Given the description of an element on the screen output the (x, y) to click on. 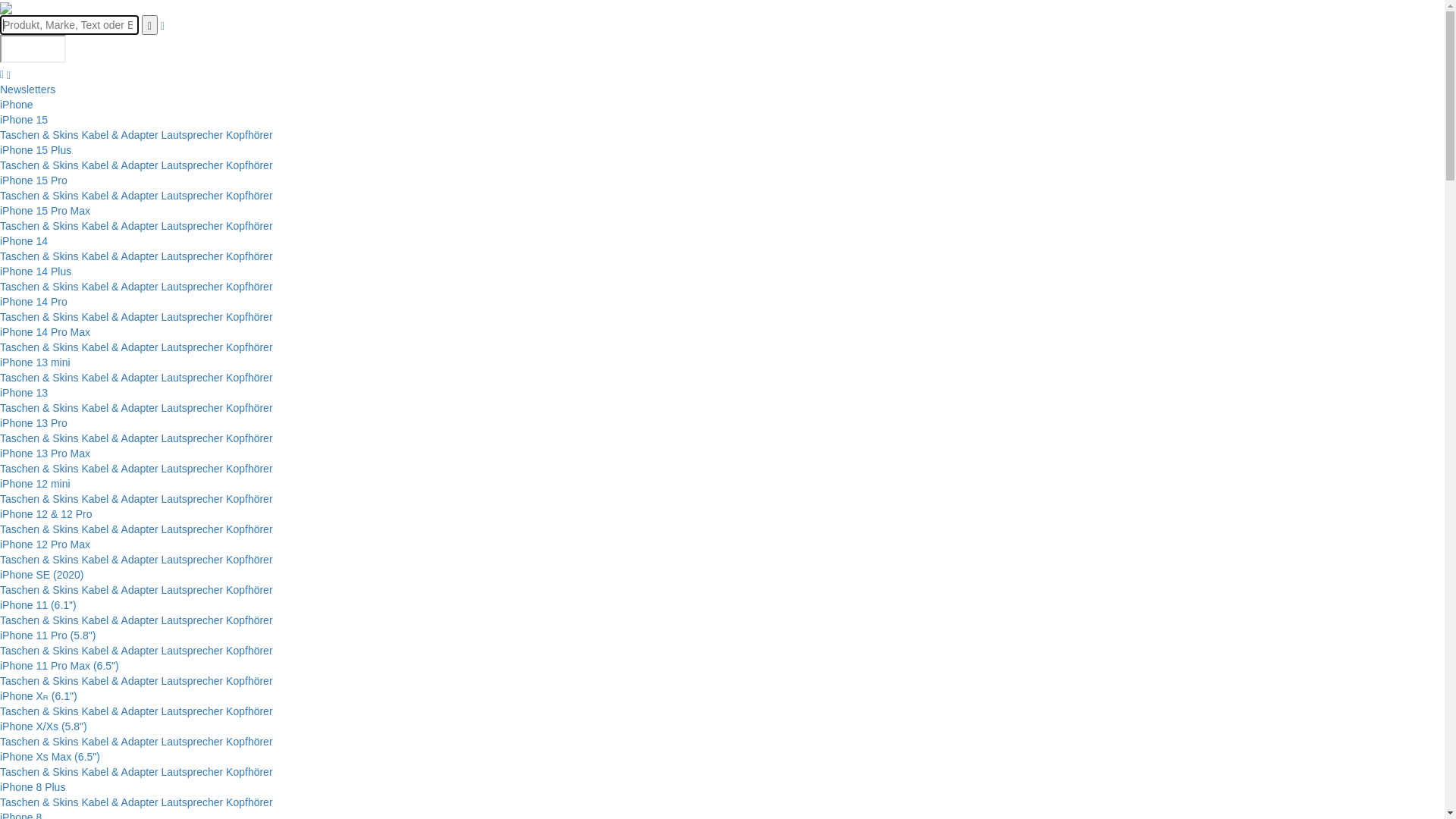
Taschen & Skins Element type: text (39, 650)
Taschen & Skins Element type: text (39, 438)
Kabel & Adapter Element type: text (119, 256)
iPhone 14 Element type: text (23, 241)
iPhone 15 Plus Element type: text (35, 150)
Kabel & Adapter Element type: text (119, 498)
Taschen & Skins Element type: text (39, 316)
iPhone Xs Max (6.5") Element type: text (50, 756)
Lautsprecher Element type: text (191, 802)
Lautsprecher Element type: text (191, 468)
Taschen & Skins Element type: text (39, 165)
Kabel & Adapter Element type: text (119, 680)
Kabel & Adapter Element type: text (119, 377)
Taschen & Skins Element type: text (39, 711)
iPhone 15 Pro Element type: text (33, 180)
Lautsprecher Element type: text (191, 589)
iPhone XR (6.1") Element type: text (38, 696)
Lautsprecher Element type: text (191, 225)
iPhone Element type: text (16, 104)
Kabel & Adapter Element type: text (119, 165)
iPhone 11 (6.1") Element type: text (38, 605)
Taschen & Skins Element type: text (39, 195)
Lautsprecher Element type: text (191, 256)
Kabel & Adapter Element type: text (119, 438)
Kabel & Adapter Element type: text (119, 529)
iPhone 11 Pro (5.8") Element type: text (47, 635)
Kabel & Adapter Element type: text (119, 468)
iPhone 13 Pro Max Element type: text (45, 453)
Taschen & Skins Element type: text (39, 589)
Lautsprecher Element type: text (191, 165)
iPhone 14 Pro Max Element type: text (45, 332)
Kabel & Adapter Element type: text (119, 559)
Lautsprecher Element type: text (191, 134)
Newsletters Element type: text (27, 89)
Kabel & Adapter Element type: text (119, 741)
Taschen & Skins Element type: text (39, 377)
Lautsprecher Element type: text (191, 407)
Taschen & Skins Element type: text (39, 559)
Lautsprecher Element type: text (191, 650)
Kabel & Adapter Element type: text (119, 650)
Kabel & Adapter Element type: text (119, 589)
Taschen & Skins Element type: text (39, 256)
Taschen & Skins Element type: text (39, 802)
Kabel & Adapter Element type: text (119, 195)
Lautsprecher Element type: text (191, 620)
iPhone 12 & 12 Pro Element type: text (45, 514)
Kabel & Adapter Element type: text (119, 711)
Lautsprecher Element type: text (191, 741)
Taschen & Skins Element type: text (39, 620)
Taschen & Skins Element type: text (39, 498)
iPhone 15 Pro Max Element type: text (45, 210)
Taschen & Skins Element type: text (39, 134)
Taschen & Skins Element type: text (39, 741)
Kabel & Adapter Element type: text (119, 347)
Taschen & Skins Element type: text (39, 680)
Lautsprecher Element type: text (191, 286)
Lautsprecher Element type: text (191, 529)
iPhone 13 mini Element type: text (35, 362)
iPhone 8 Plus Element type: text (32, 787)
Lautsprecher Element type: text (191, 438)
Kabel & Adapter Element type: text (119, 407)
Lautsprecher Element type: text (191, 377)
Kabel & Adapter Element type: text (119, 225)
iPhone 14 Plus Element type: text (35, 271)
Kabel & Adapter Element type: text (119, 286)
Follow ComputerWorksAG on Twitter Element type: hover (32, 48)
Lautsprecher Element type: text (191, 347)
iPhone 15 Element type: text (23, 119)
Taschen & Skins Element type: text (39, 771)
iPhone 14 Pro Element type: text (33, 301)
Lautsprecher Element type: text (191, 711)
Taschen & Skins Element type: text (39, 407)
Zur Startseite Element type: hover (6, 7)
Taschen & Skins Element type: text (39, 468)
Lautsprecher Element type: text (191, 680)
iPhone 11 Pro Max (6.5") Element type: text (59, 665)
Instagram Element type: hover (1, 74)
iPhone 13 Pro Element type: text (33, 423)
Kabel & Adapter Element type: text (119, 134)
Lautsprecher Element type: text (191, 771)
iPhone X/Xs (5.8") Element type: text (43, 726)
Taschen & Skins Element type: text (39, 225)
iPhone 13 Element type: text (23, 392)
Taschen & Skins Element type: text (39, 286)
Taschen & Skins Element type: text (39, 529)
Kabel & Adapter Element type: text (119, 802)
Lautsprecher Element type: text (191, 195)
Lautsprecher Element type: text (191, 316)
iPhone SE (2020) Element type: text (42, 574)
Taschen & Skins Element type: text (39, 347)
Kabel & Adapter Element type: text (119, 771)
iPhone 12 Pro Max Element type: text (45, 544)
Kabel & Adapter Element type: text (119, 316)
Lautsprecher Element type: text (191, 498)
Lautsprecher Element type: text (191, 559)
iPhone 12 mini Element type: text (35, 483)
Kabel & Adapter Element type: text (119, 620)
